Given the description of an element on the screen output the (x, y) to click on. 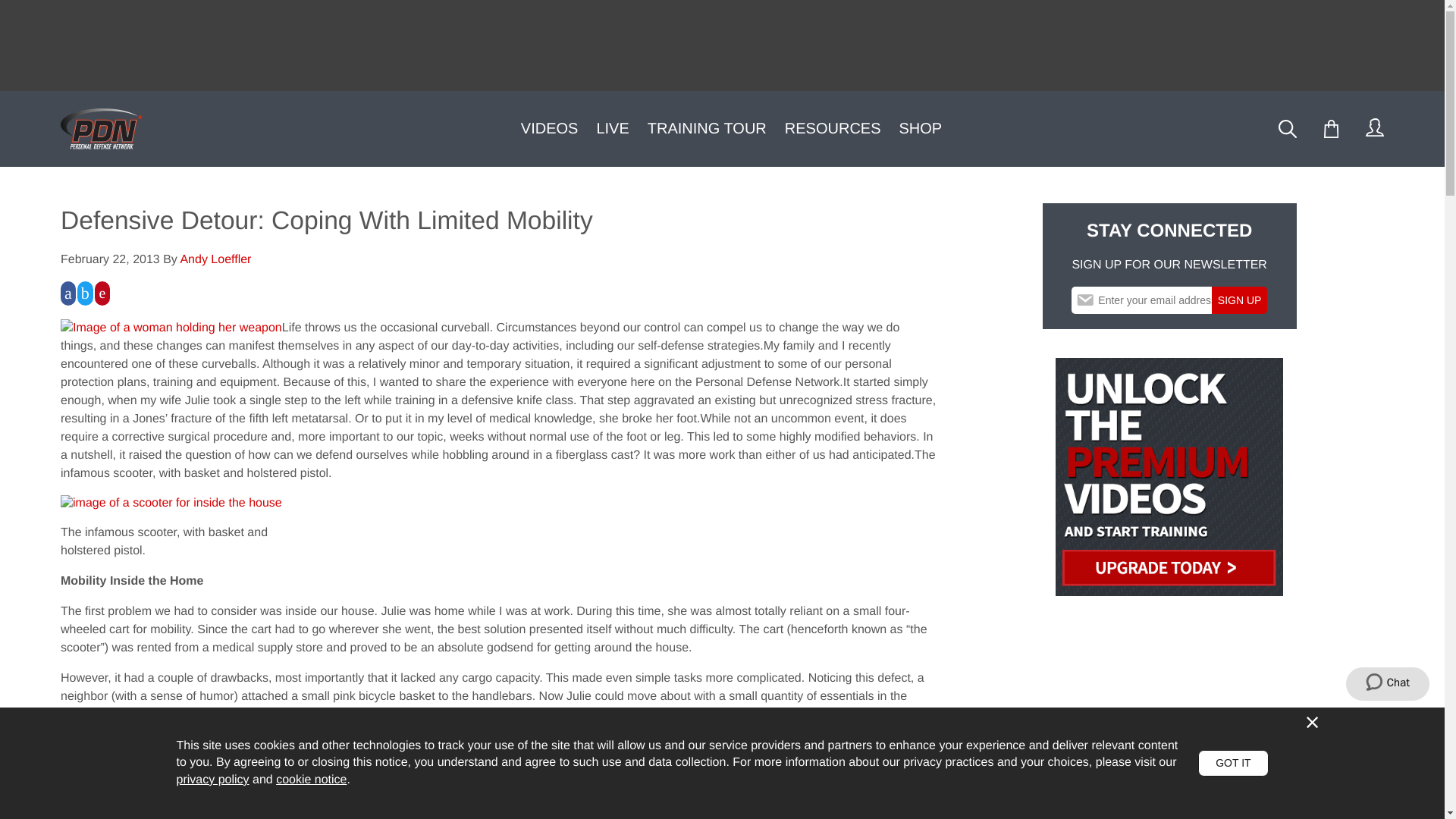
LIVE (611, 128)
TRAINING TOUR (707, 128)
Sign Up (1238, 299)
Andy Loeffler (214, 259)
VIDEOS (549, 128)
Home (101, 128)
RESOURCES (832, 128)
Personal Defense Network Clickable Logo (106, 128)
Cart (1330, 128)
SHOP (920, 128)
Cart Icon SVG (1331, 128)
Sign Up (1238, 299)
